Given the description of an element on the screen output the (x, y) to click on. 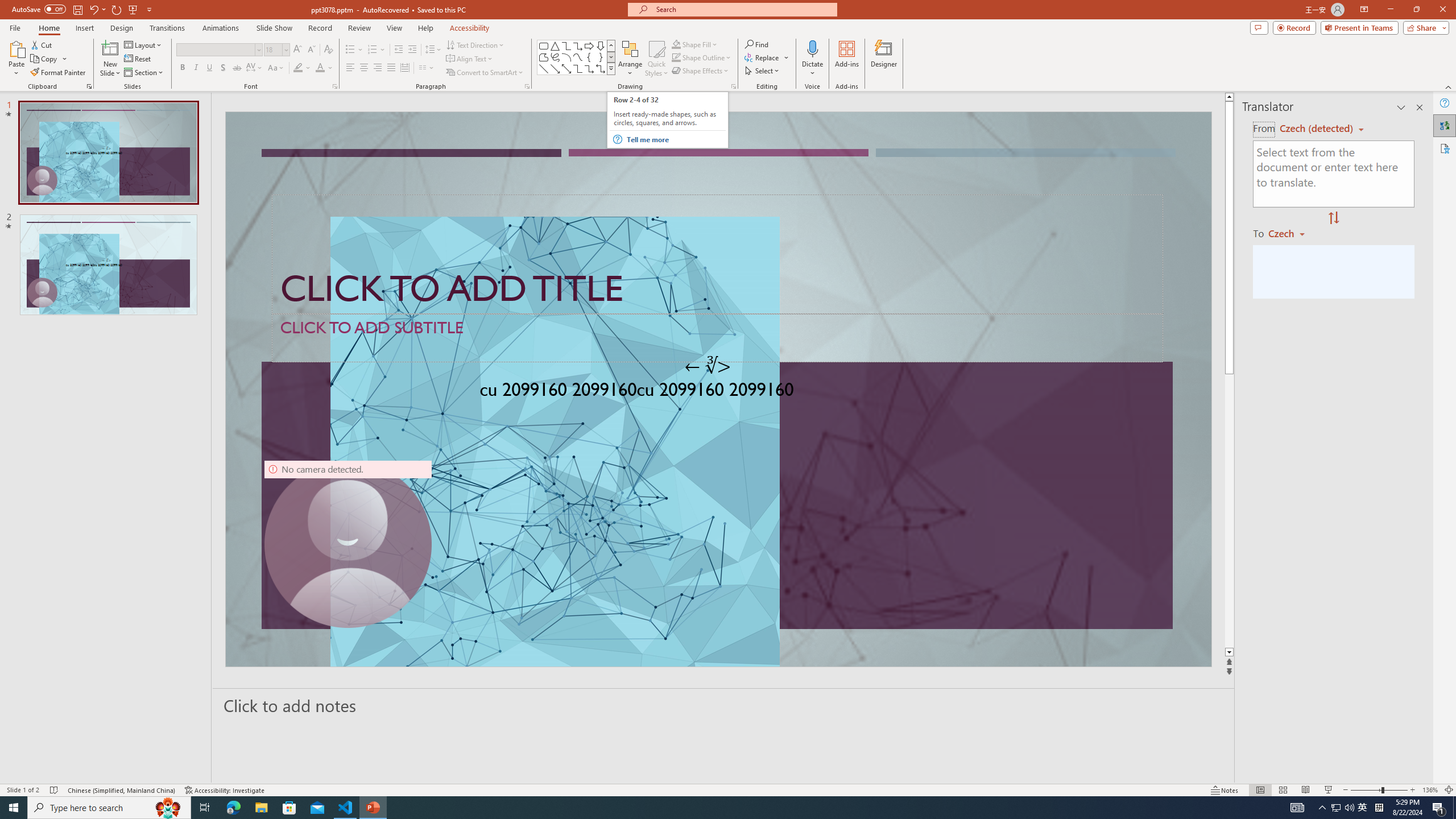
Freeform: Scribble (554, 57)
Distributed (404, 67)
Title TextBox (717, 254)
